Given the description of an element on the screen output the (x, y) to click on. 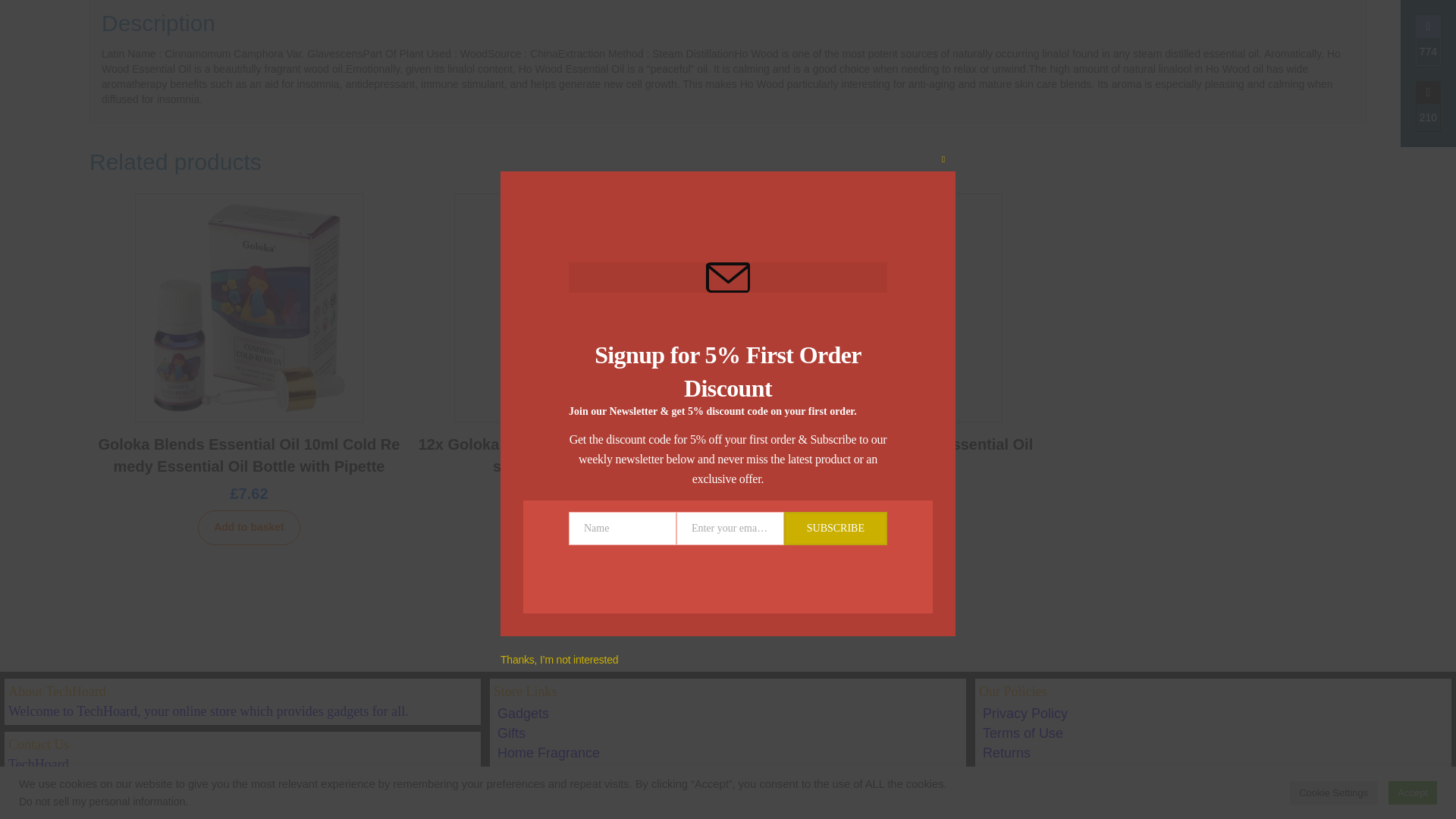
1609483 (401, 6)
1609483 (1027, 6)
